Given the description of an element on the screen output the (x, y) to click on. 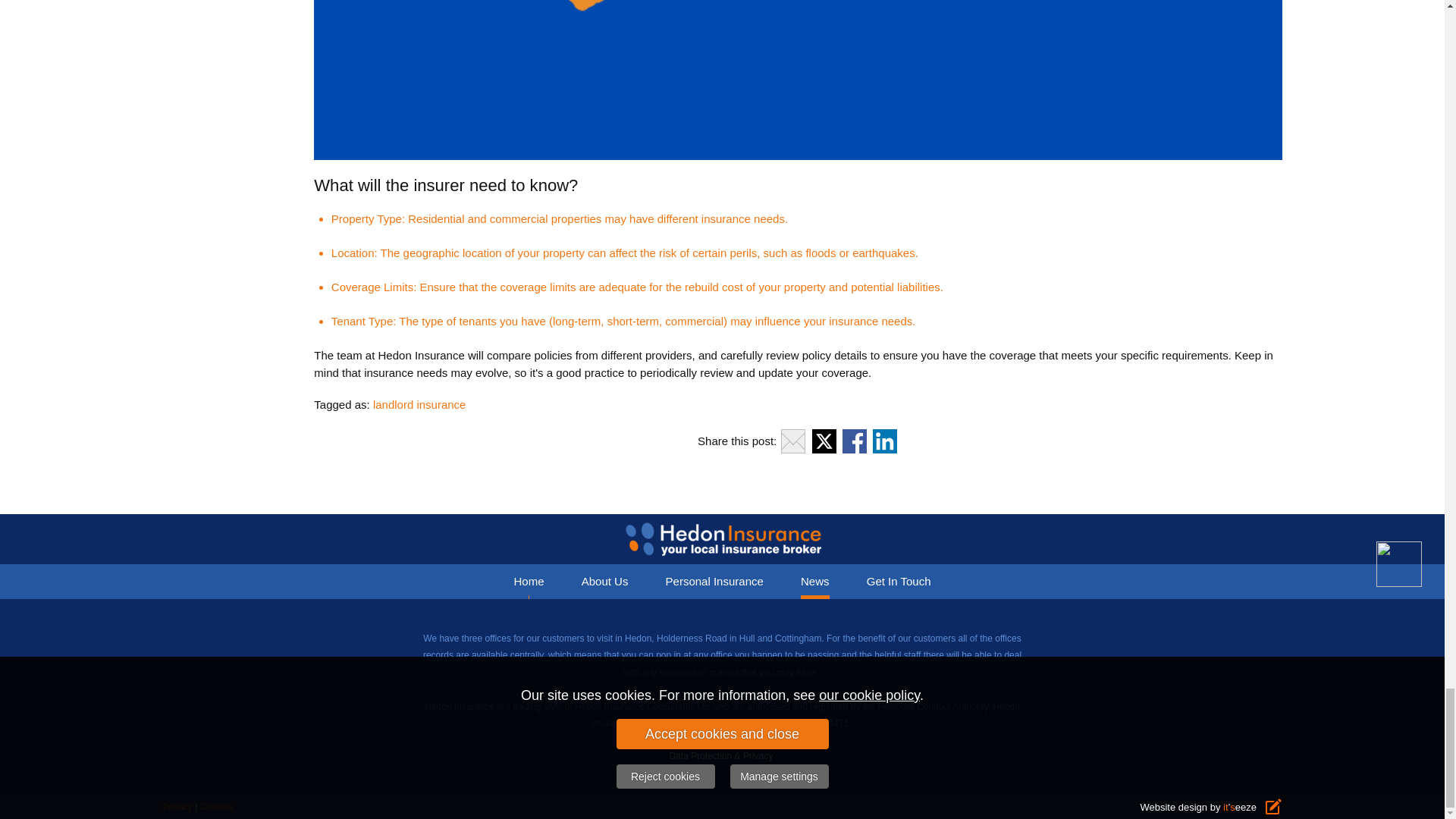
landlord insurance (418, 404)
